Given the description of an element on the screen output the (x, y) to click on. 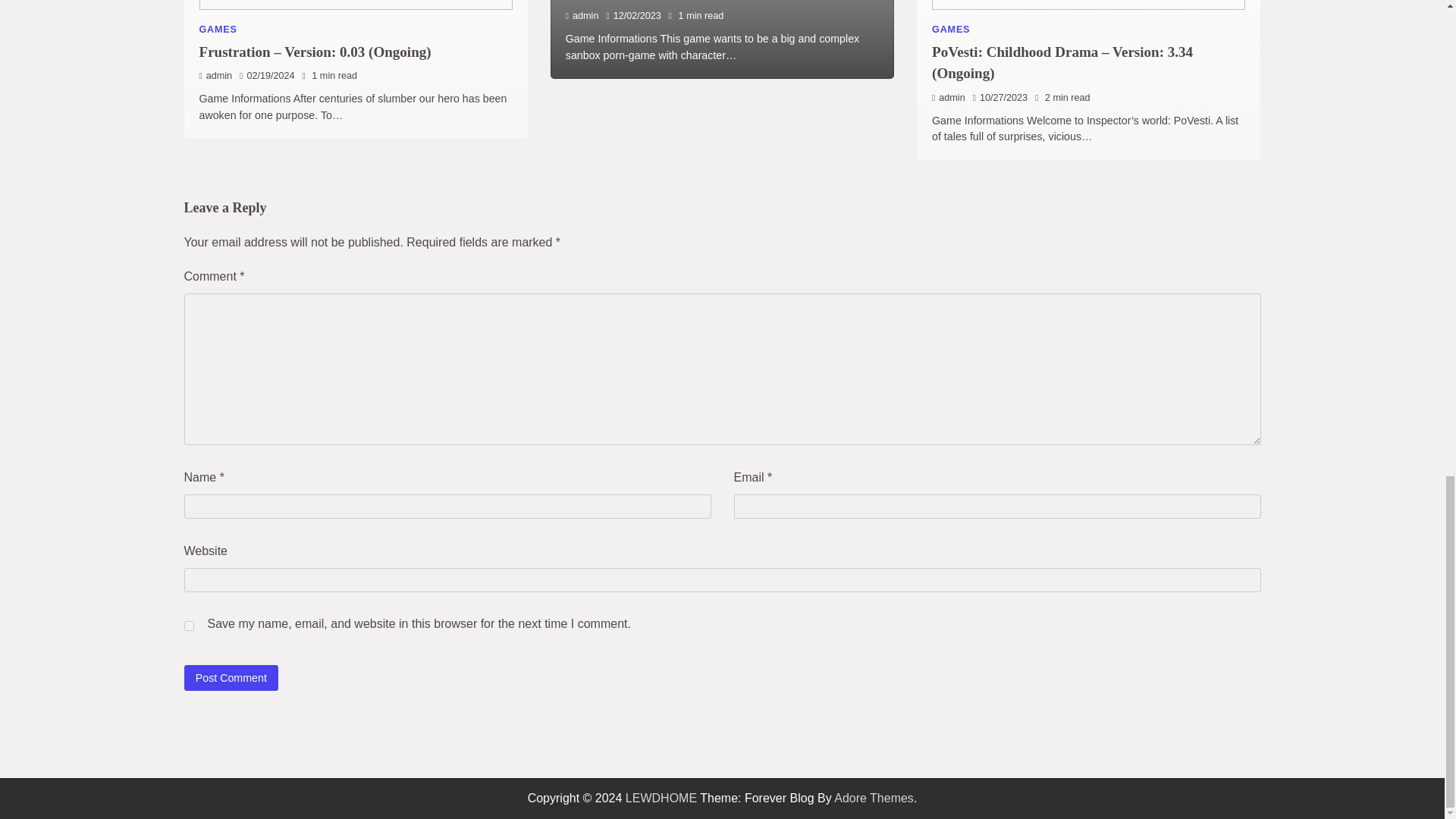
yes (188, 625)
Post Comment (230, 677)
